Given the description of an element on the screen output the (x, y) to click on. 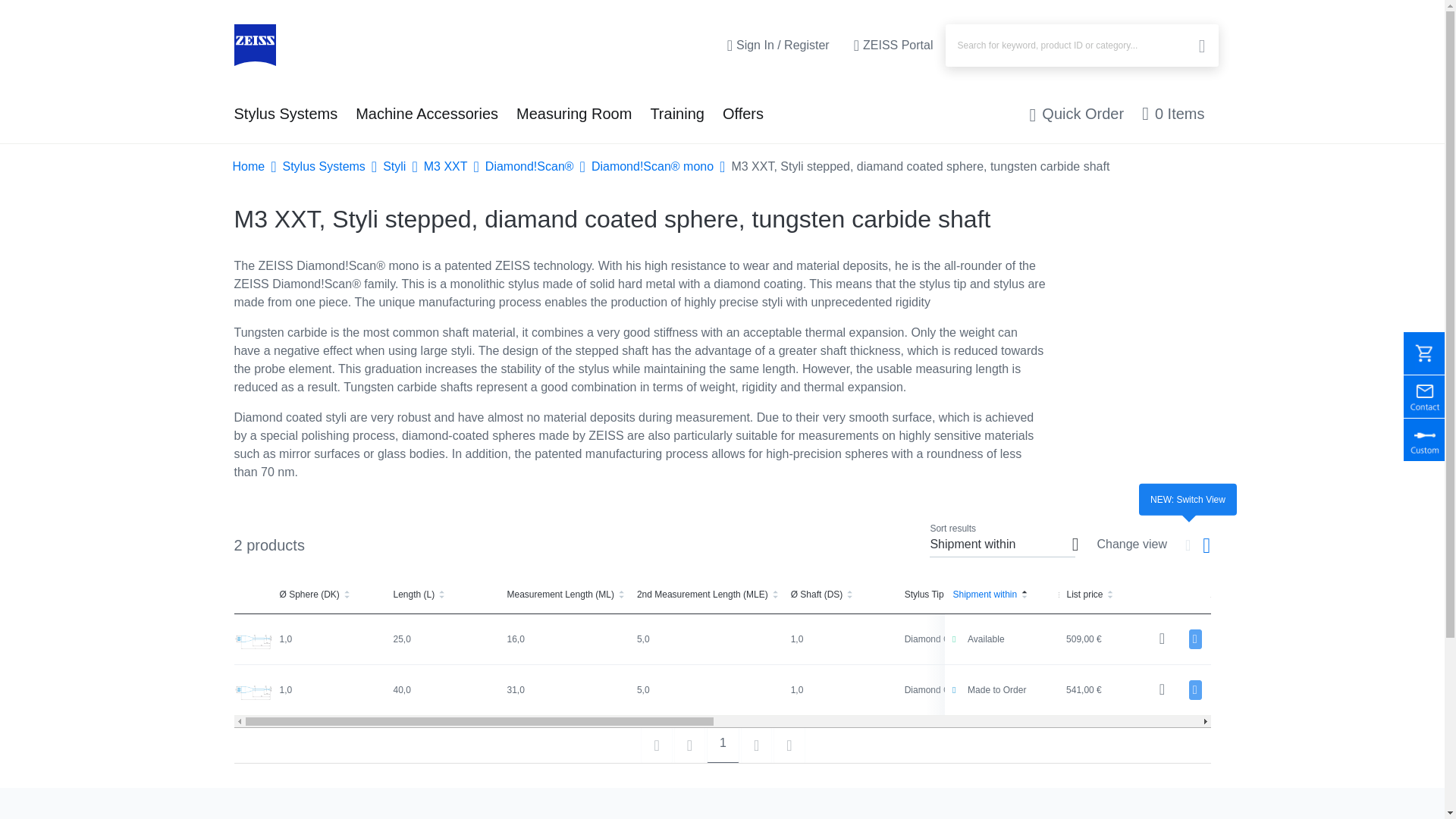
Start search. (1199, 46)
Quick Order (1076, 113)
Home (253, 45)
  ZEISS Portal (893, 45)
Stylus Systems (284, 113)
ZEISS Portal (893, 45)
